Given the description of an element on the screen output the (x, y) to click on. 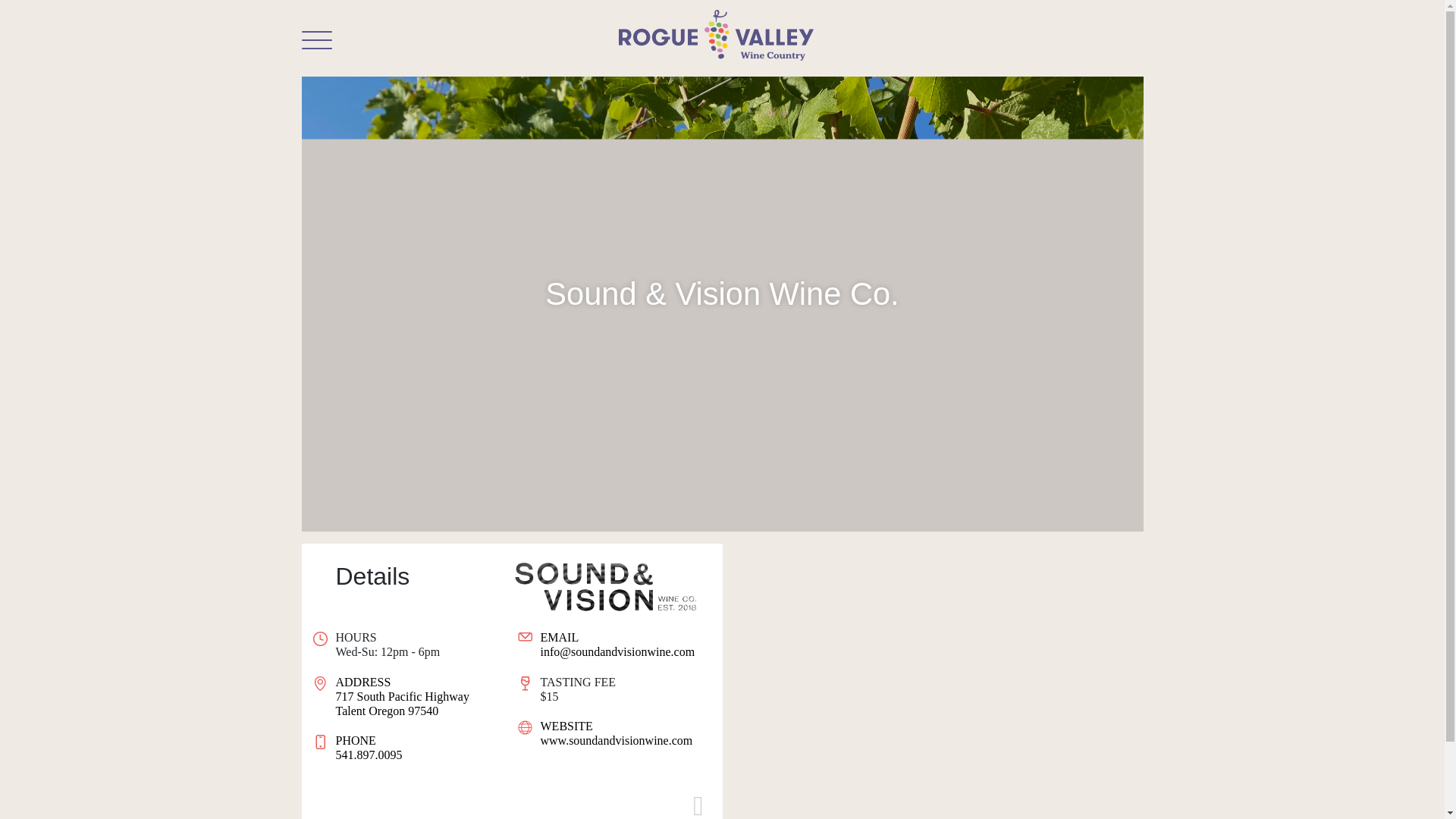
Instagram (697, 805)
